Given the description of an element on the screen output the (x, y) to click on. 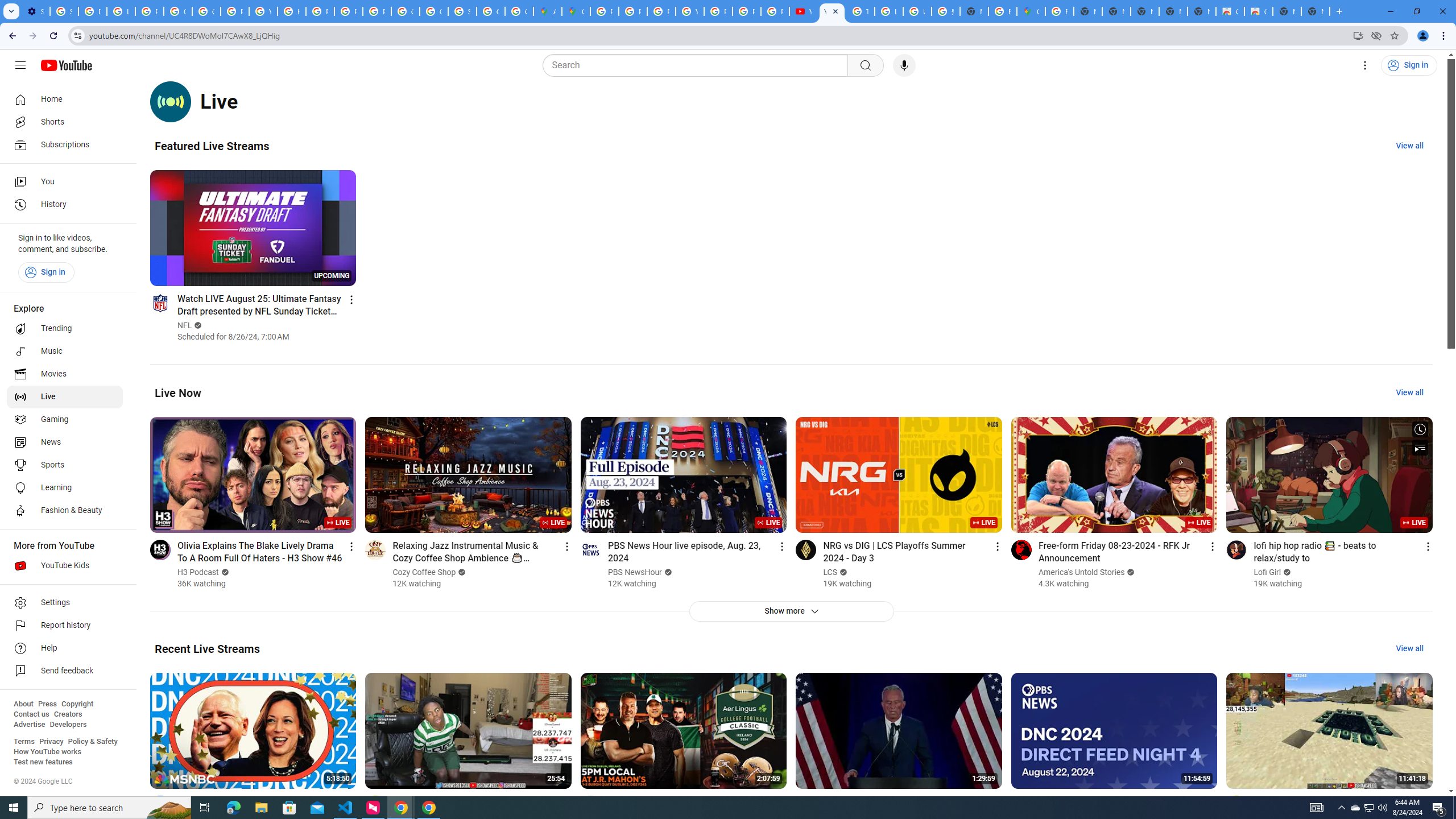
PBS NewsHour (634, 572)
Creators (67, 714)
